Given the description of an element on the screen output the (x, y) to click on. 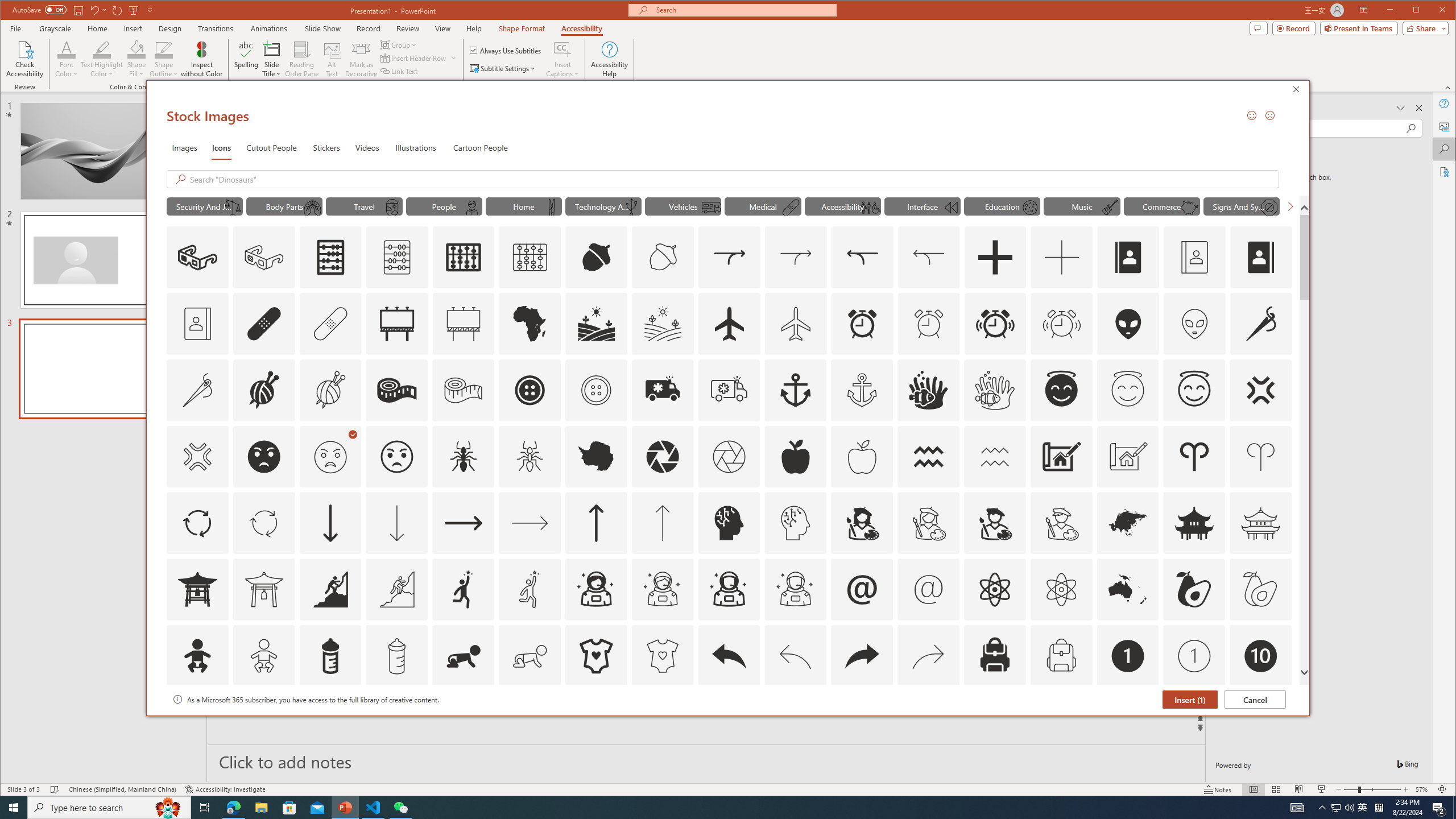
AutomationID: Icons_Badge1_M (1193, 655)
AutomationID: Icons_Anchor (795, 389)
AutomationID: Icons_AlarmClock (861, 323)
AutomationID: Icons_Atom (994, 589)
Insert (1) (1189, 699)
Running applications (707, 807)
AutomationID: Icons_Back_LTR (729, 655)
